Given the description of an element on the screen output the (x, y) to click on. 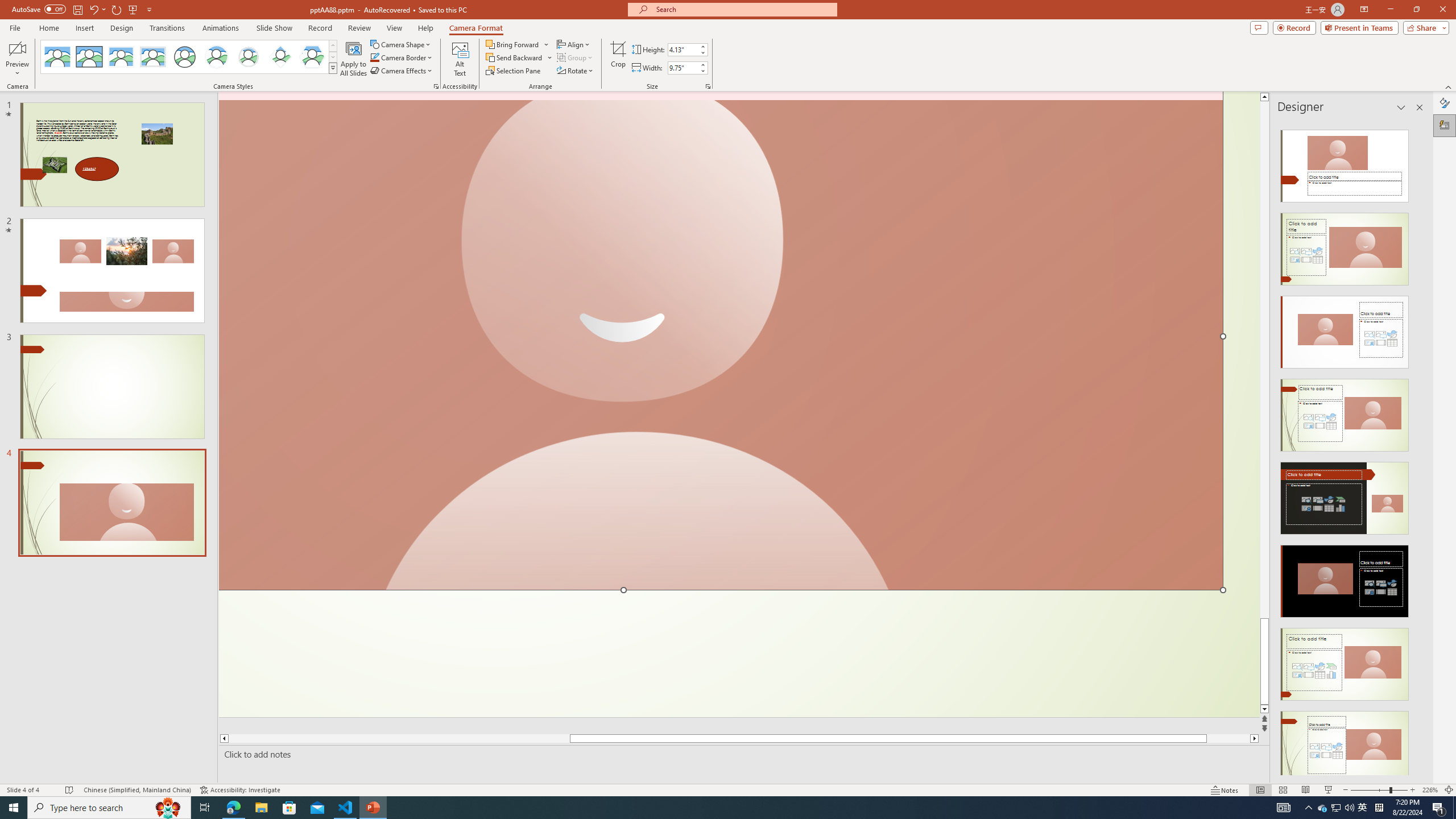
Send Backward (518, 56)
Zoom 226% (1430, 790)
